Given the description of an element on the screen output the (x, y) to click on. 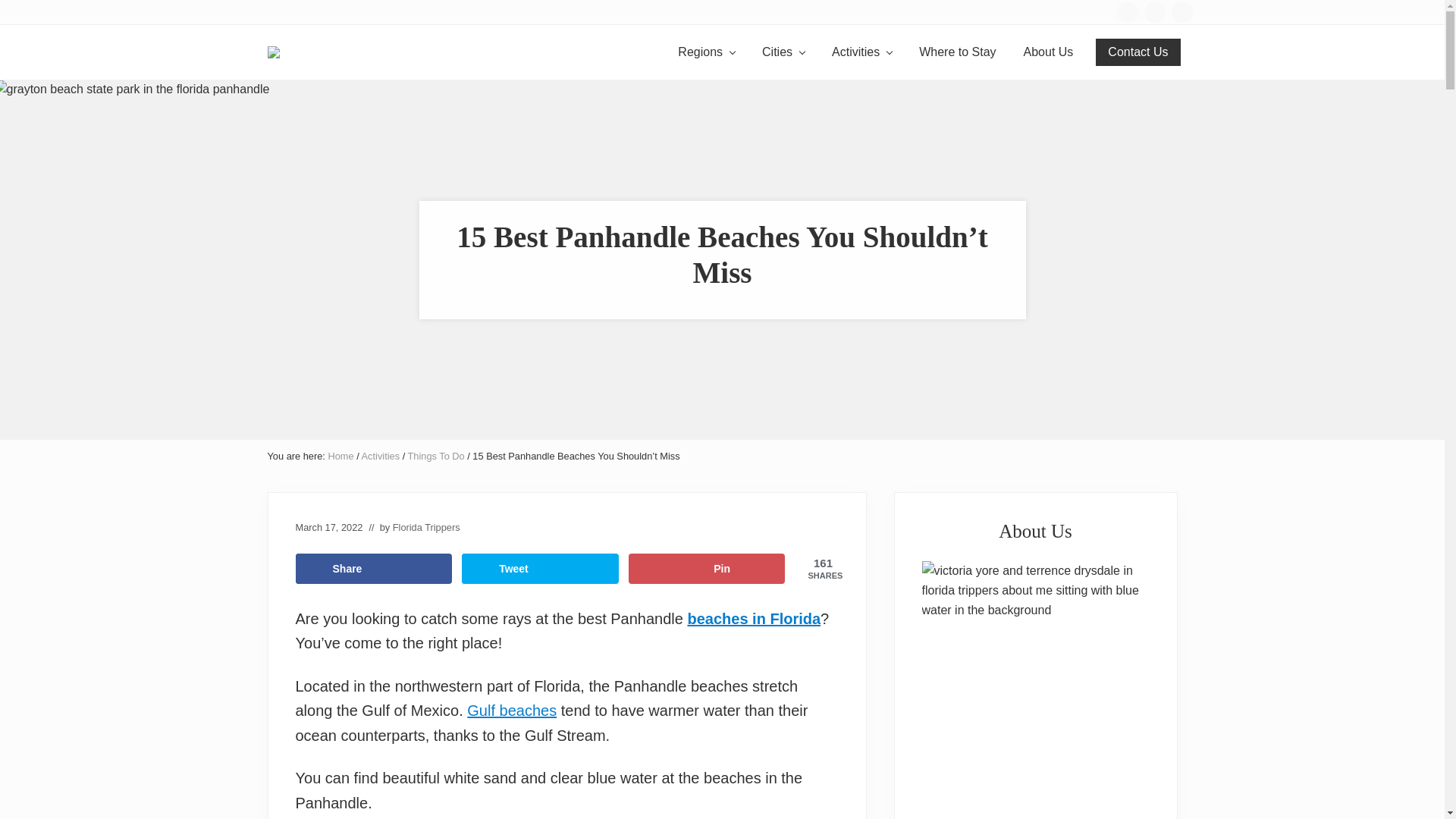
Share on Facebook (373, 568)
Share on Twitter (539, 568)
Facebook (1126, 11)
Pinterest (1181, 11)
Facebook (1126, 11)
Instagram (1154, 11)
Save to Pinterest (707, 568)
